Given the description of an element on the screen output the (x, y) to click on. 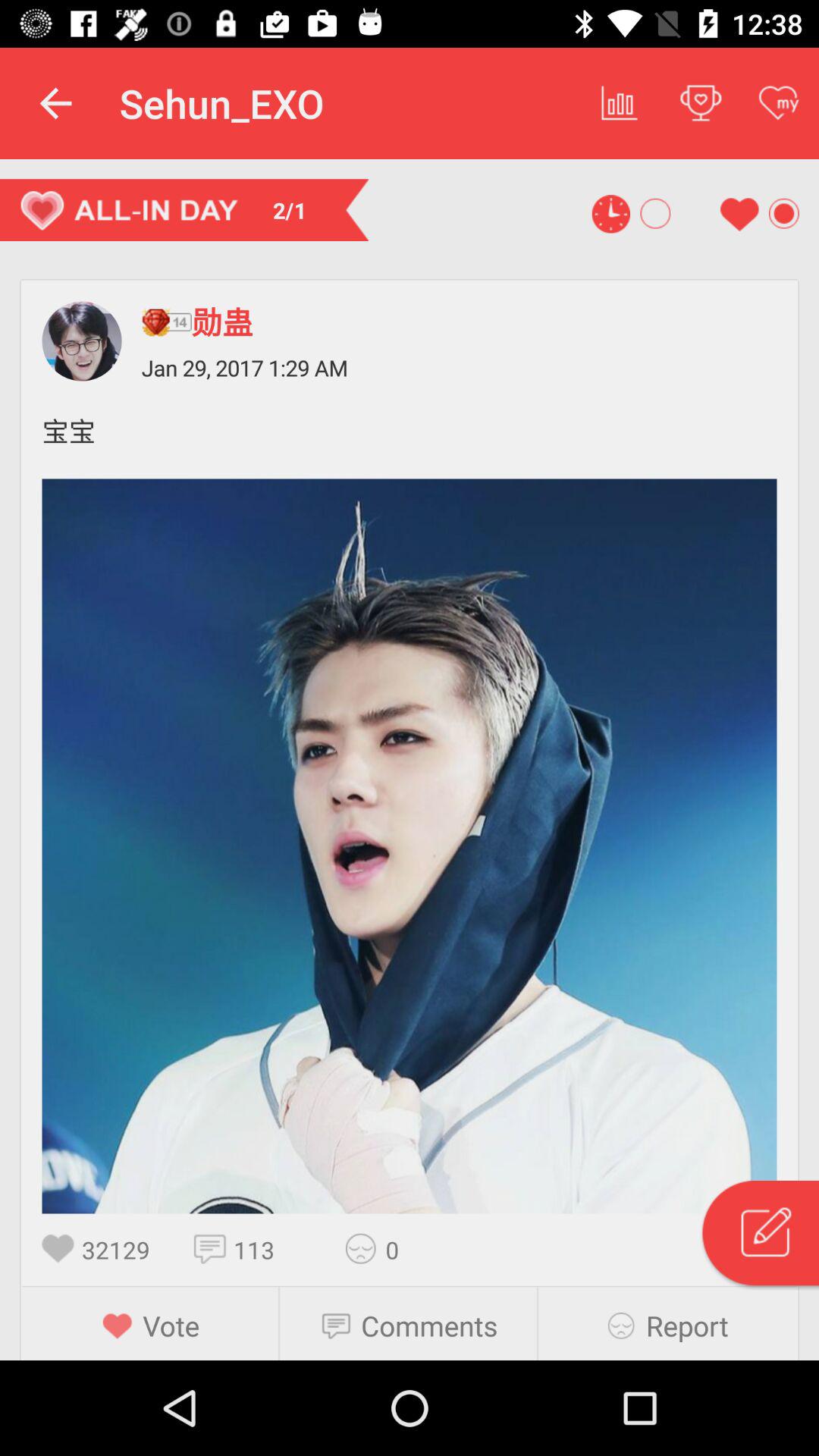
go to ratings (365, 1248)
